Given the description of an element on the screen output the (x, y) to click on. 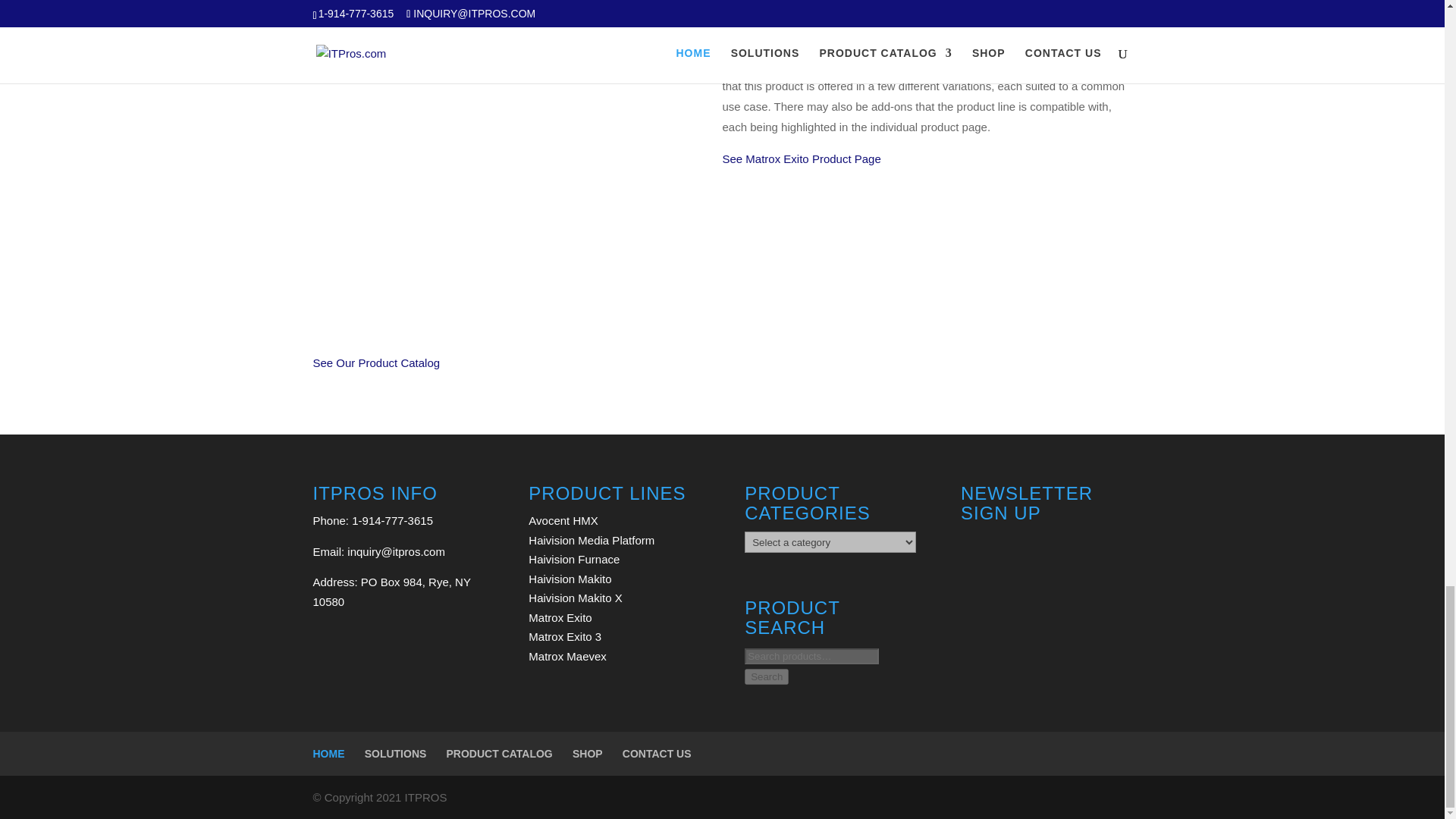
See Matrox Exito Product Page (801, 158)
Matrox Maevex (567, 656)
1-914-777-3615 (392, 520)
Haivision Makito (569, 578)
See Our Product Catalog (376, 362)
Haivision Makito X (574, 597)
Matrox Exito 3 (564, 635)
Haivision Furnace (574, 558)
Haivision Media Platform (590, 540)
Search (766, 676)
Avocent HMX (562, 520)
Matrox Exito (559, 617)
